Given the description of an element on the screen output the (x, y) to click on. 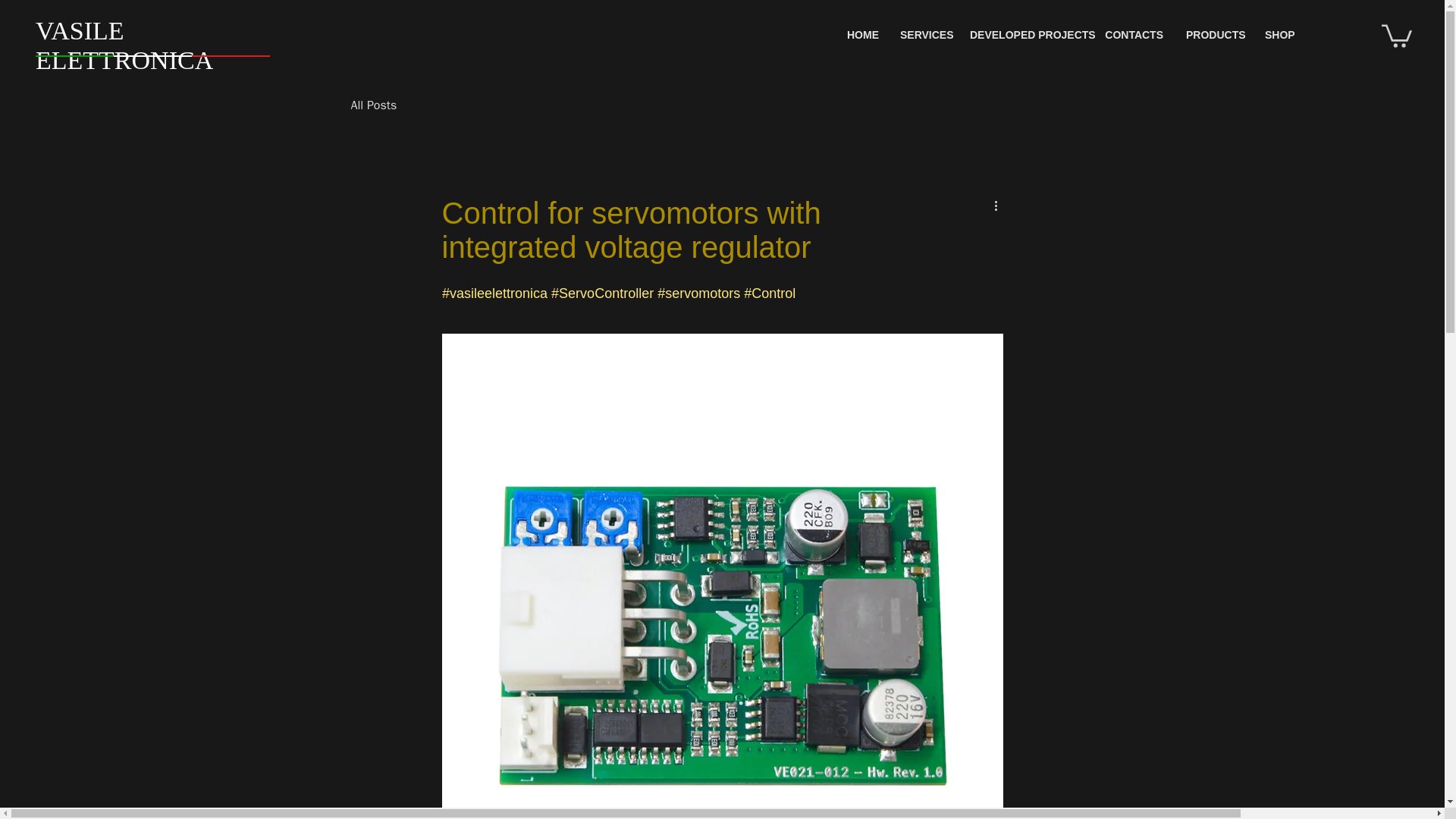
HOME (861, 34)
PRODUCTS (1213, 34)
SERVICES (923, 34)
All Posts (373, 105)
DEVELOPED PROJECTS (1025, 34)
SHOP (1278, 34)
CONTACTS (1133, 34)
VASILE ELETTRONICA (123, 45)
